Given the description of an element on the screen output the (x, y) to click on. 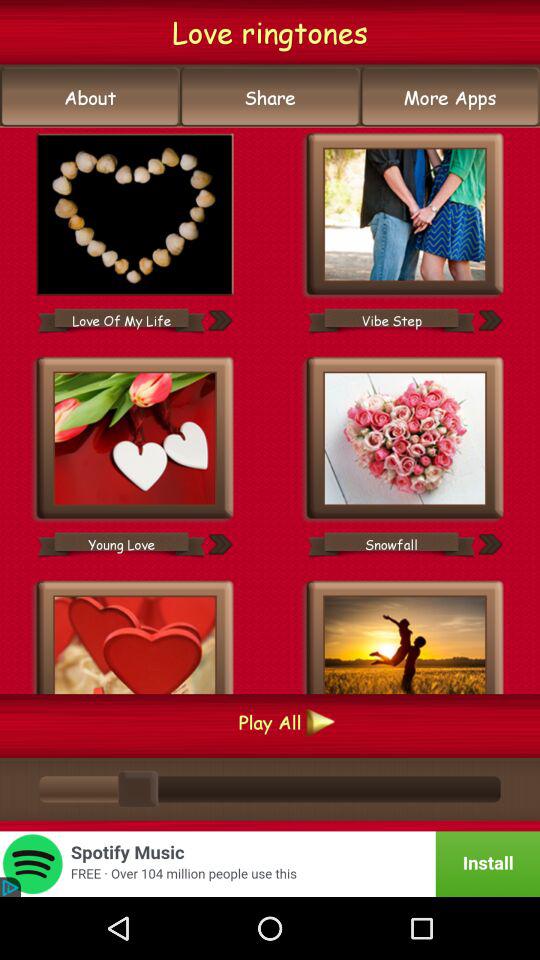
choose item to the left of share item (90, 97)
